Given the description of an element on the screen output the (x, y) to click on. 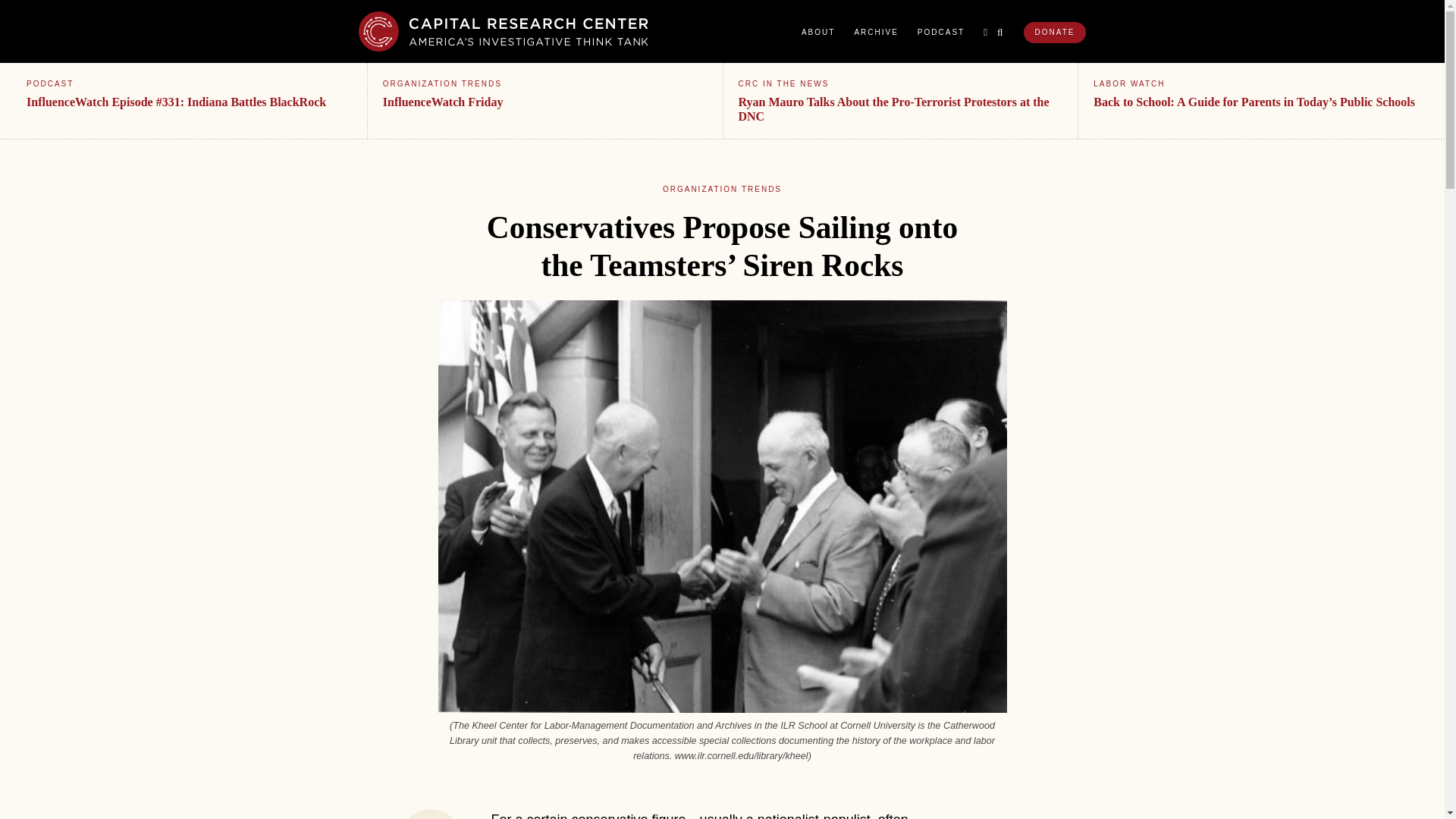
PODCAST (50, 83)
DONATE (1054, 32)
ARCHIVE (875, 32)
ABOUT (818, 32)
ORGANIZATION TRENDS (442, 83)
InfluenceWatch Friday (442, 101)
LABOR WATCH (1128, 83)
CRC IN THE NEWS (783, 83)
ORGANIZATION TRENDS (721, 189)
